Given the description of an element on the screen output the (x, y) to click on. 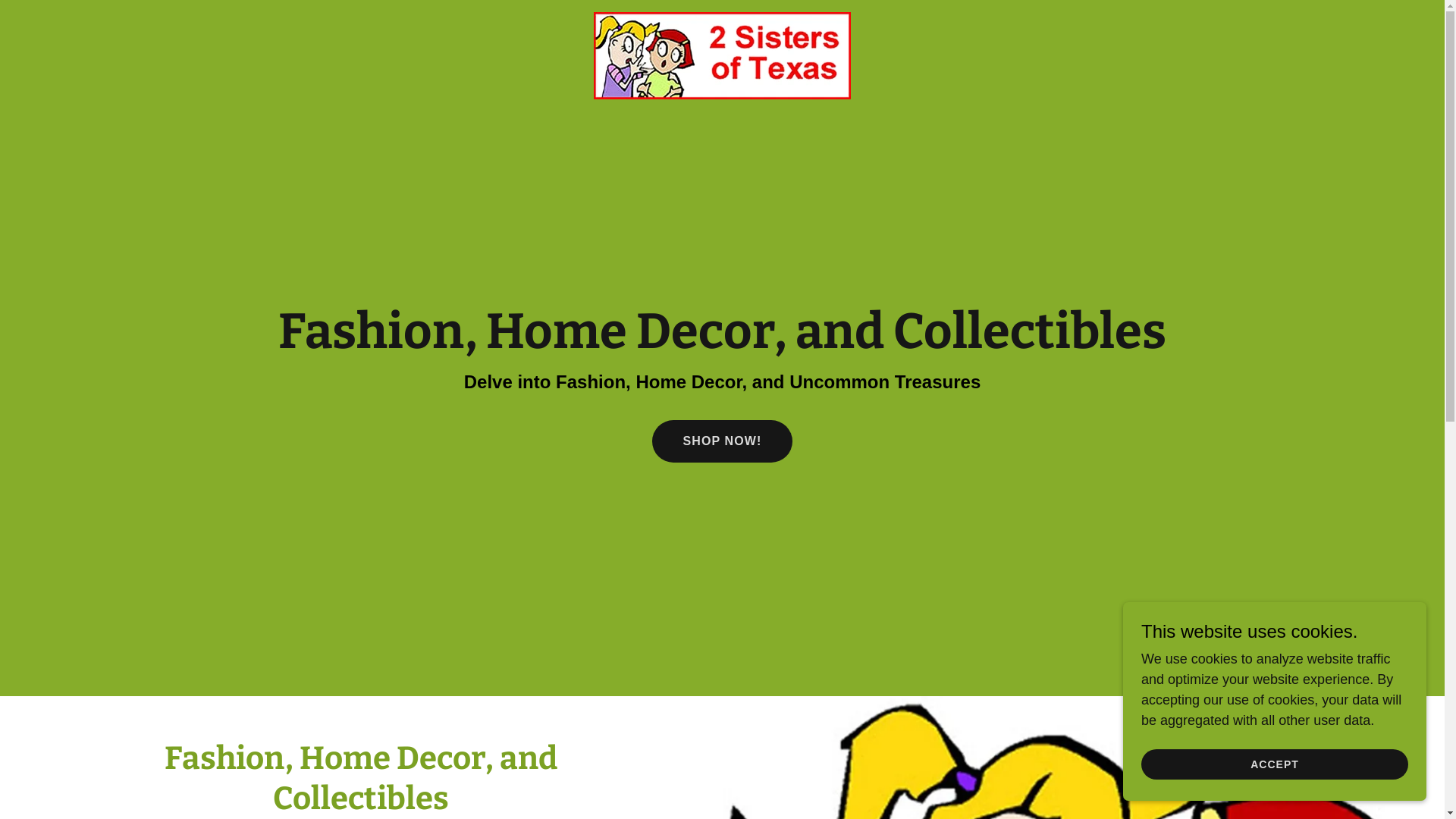
ACCEPT Element type: text (1274, 764)
2 Sisters of Texas Element type: hover (721, 18)
SHOP NOW! Element type: text (721, 441)
